Given the description of an element on the screen output the (x, y) to click on. 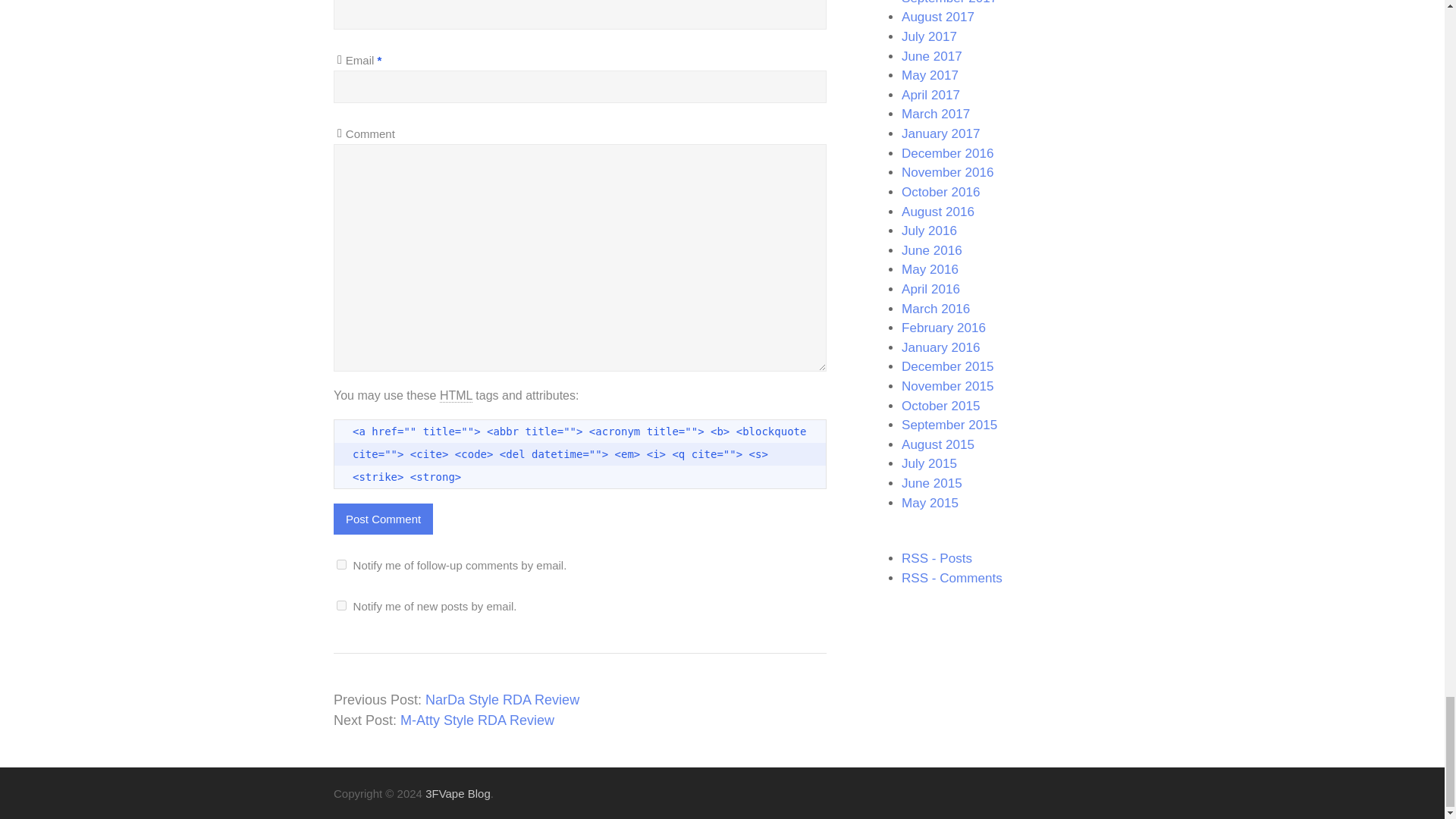
subscribe (341, 605)
subscribe (341, 564)
Post Comment (382, 518)
